Given the description of an element on the screen output the (x, y) to click on. 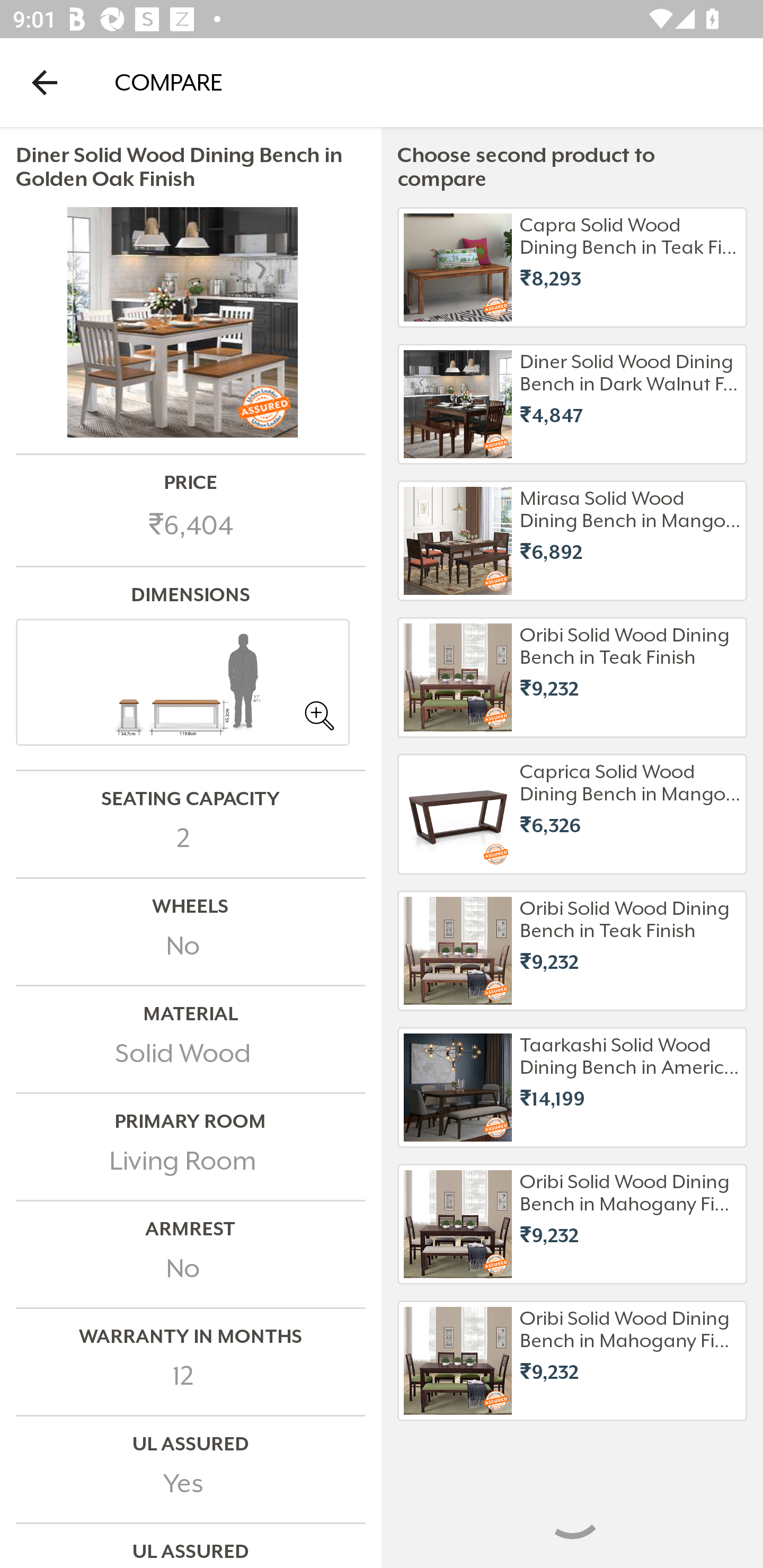
Navigate up (44, 82)
